Given the description of an element on the screen output the (x, y) to click on. 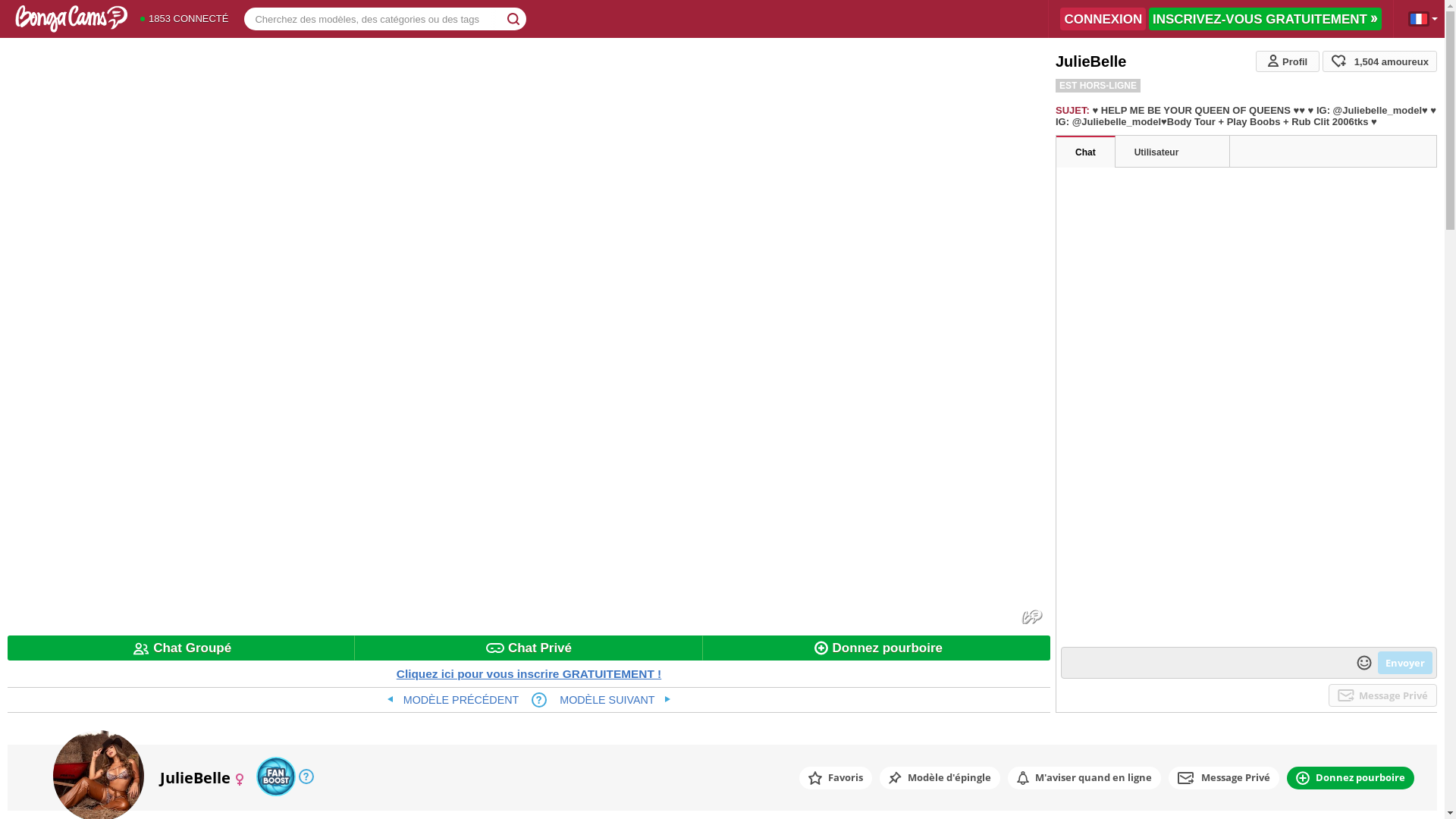
Donnez pourboire Element type: text (876, 647)
Profil Element type: text (1287, 61)
Chat Element type: text (1085, 152)
Utilisateur Element type: text (1172, 152)
1,504 amoureux Element type: text (1379, 61)
INSCRIVEZ-VOUS GRATUITEMENT Element type: text (1264, 18)
CONNEXION Element type: text (1102, 18)
Cliquez ici pour vous inscrire GRATUITEMENT ! Element type: text (528, 673)
Envoyer Element type: text (1404, 662)
